Given the description of an element on the screen output the (x, y) to click on. 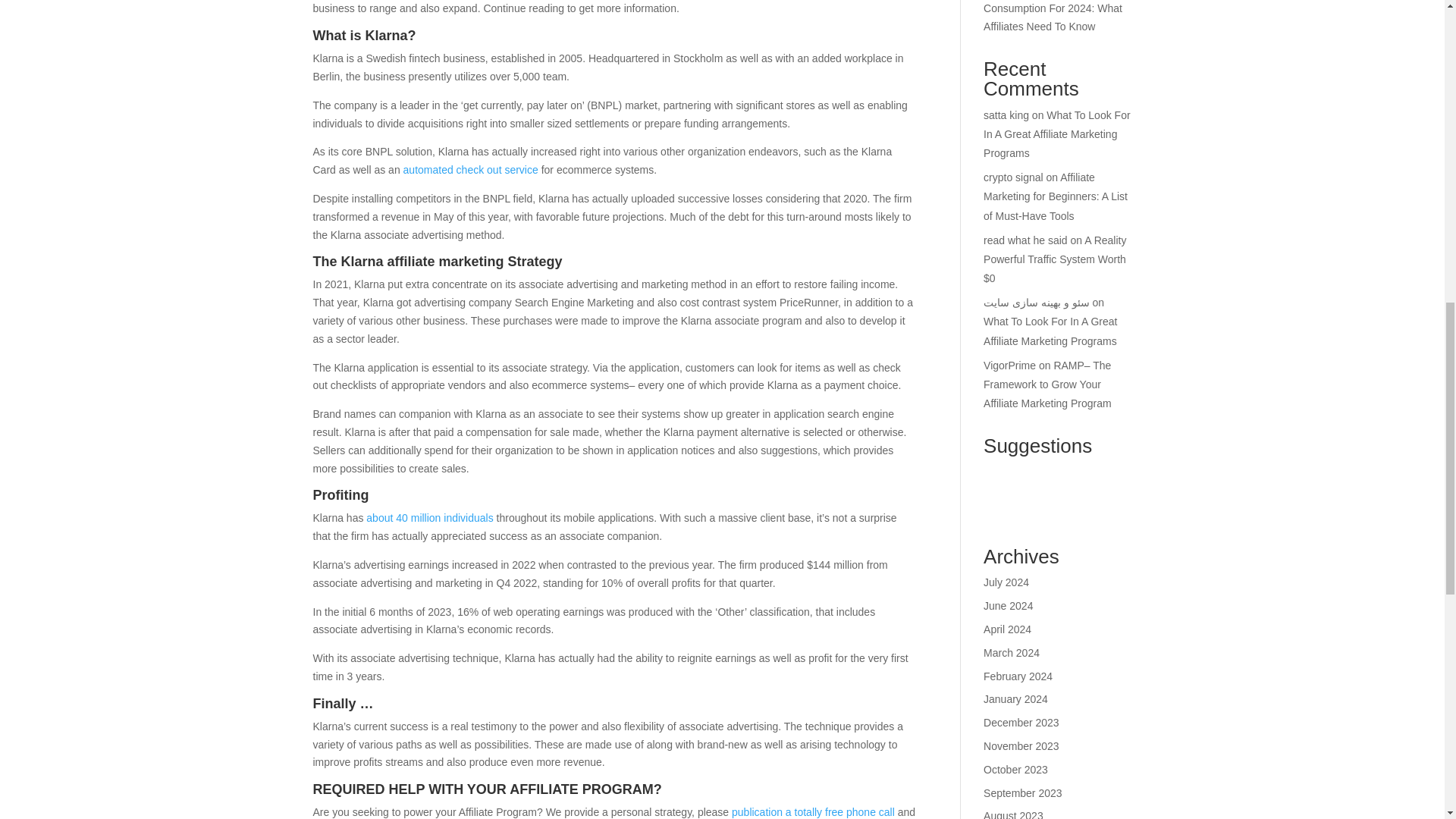
VigorPrime (1009, 365)
satta king (1006, 114)
What To Look For In A Great Affiliate Marketing Programs (1057, 133)
automated check out service (470, 169)
read what he said (1025, 240)
crypto signal (1013, 177)
What To Look For In A Great Affiliate Marketing Programs (1050, 330)
about 40 million individuals (429, 517)
publication a totally free phone call (813, 811)
June 2024 (1008, 605)
July 2024 (1006, 582)
April 2024 (1007, 629)
affiliate marketing (445, 261)
Affiliate Marketing for Beginners: A List of Must-Have Tools (1055, 196)
